Given the description of an element on the screen output the (x, y) to click on. 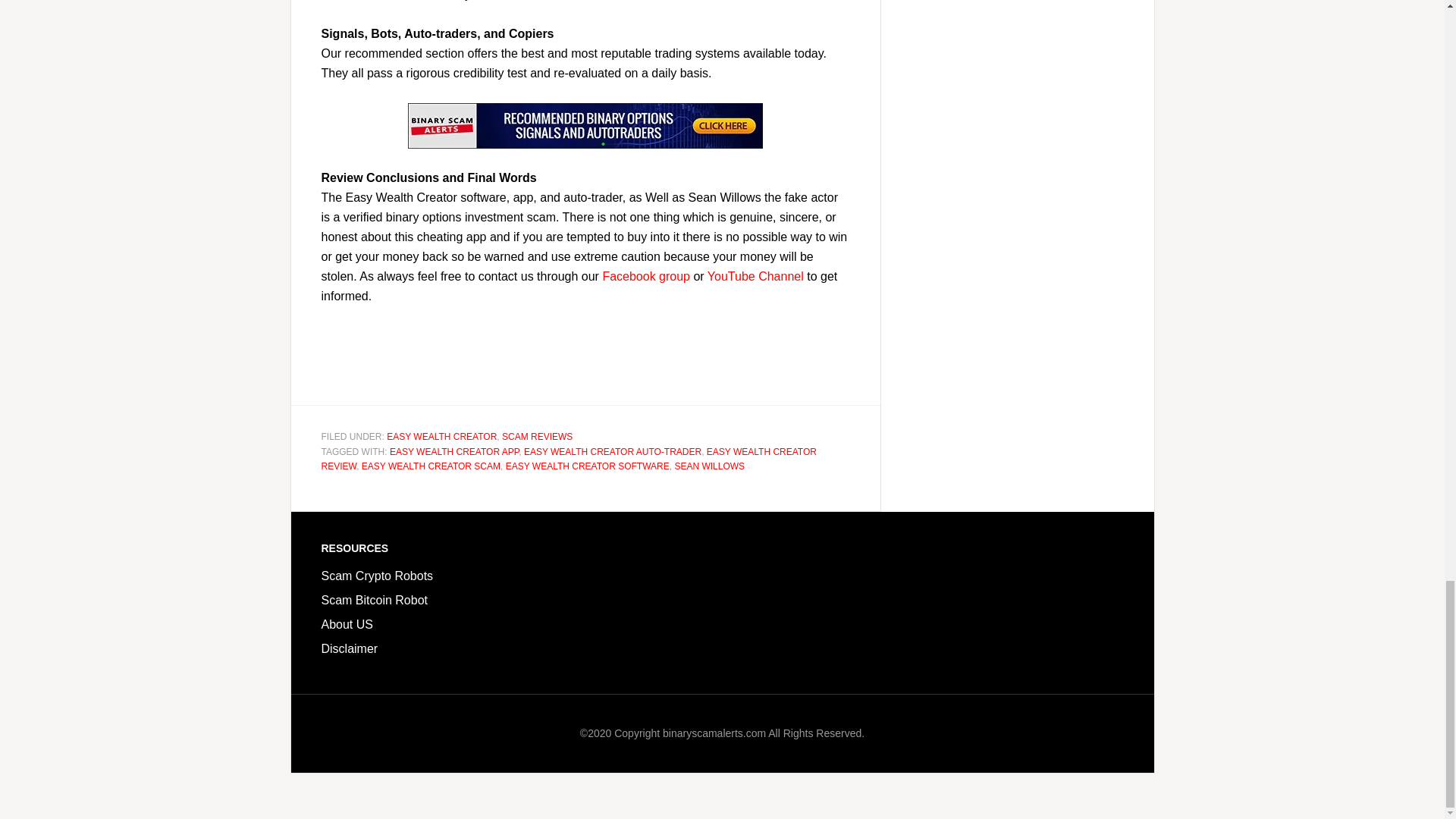
EASY WEALTH CREATOR (441, 436)
Recommended Systems (584, 125)
YouTube Channel (755, 276)
Facebook group (646, 276)
SCAM REVIEWS (537, 436)
